Given the description of an element on the screen output the (x, y) to click on. 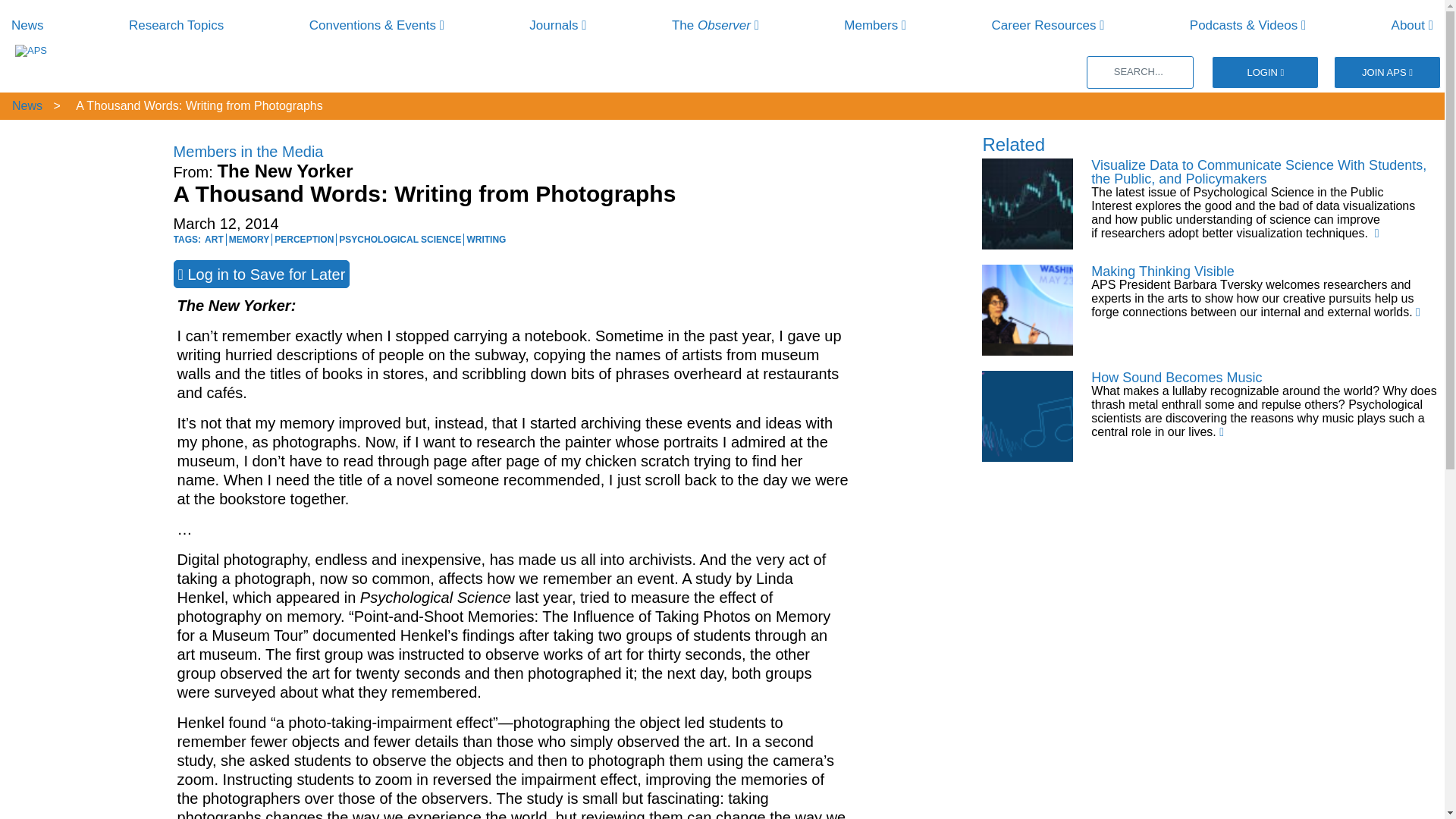
Career Resources (1048, 25)
Members (874, 25)
Go to the News category archives. (25, 105)
Research Topics (176, 25)
Related (1013, 144)
News (27, 25)
Journals (557, 25)
About (1411, 25)
The Observer  (714, 25)
